Given the description of an element on the screen output the (x, y) to click on. 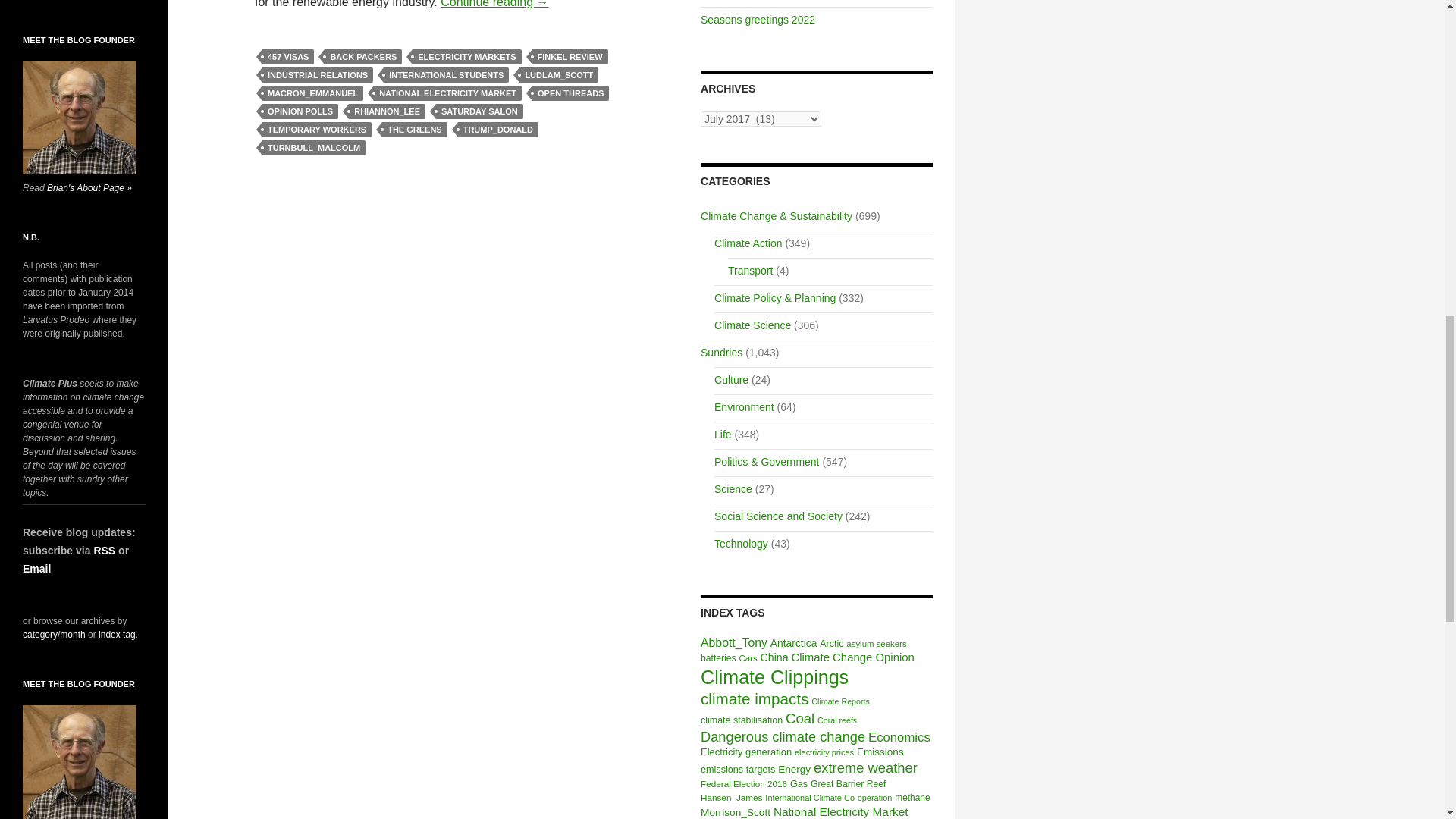
457 VISAS (288, 56)
ELECTRICITY MARKETS (466, 56)
Brian Bahnisch (79, 762)
Go to sign-up form (36, 568)
Really Simple Syndication (104, 550)
Brian Bahnisch (79, 117)
BACK PACKERS (362, 56)
Posts archived indexed by topical tag (117, 634)
INTERNATIONAL STUDENTS (446, 74)
INDUSTRIAL RELATIONS (317, 74)
